Given the description of an element on the screen output the (x, y) to click on. 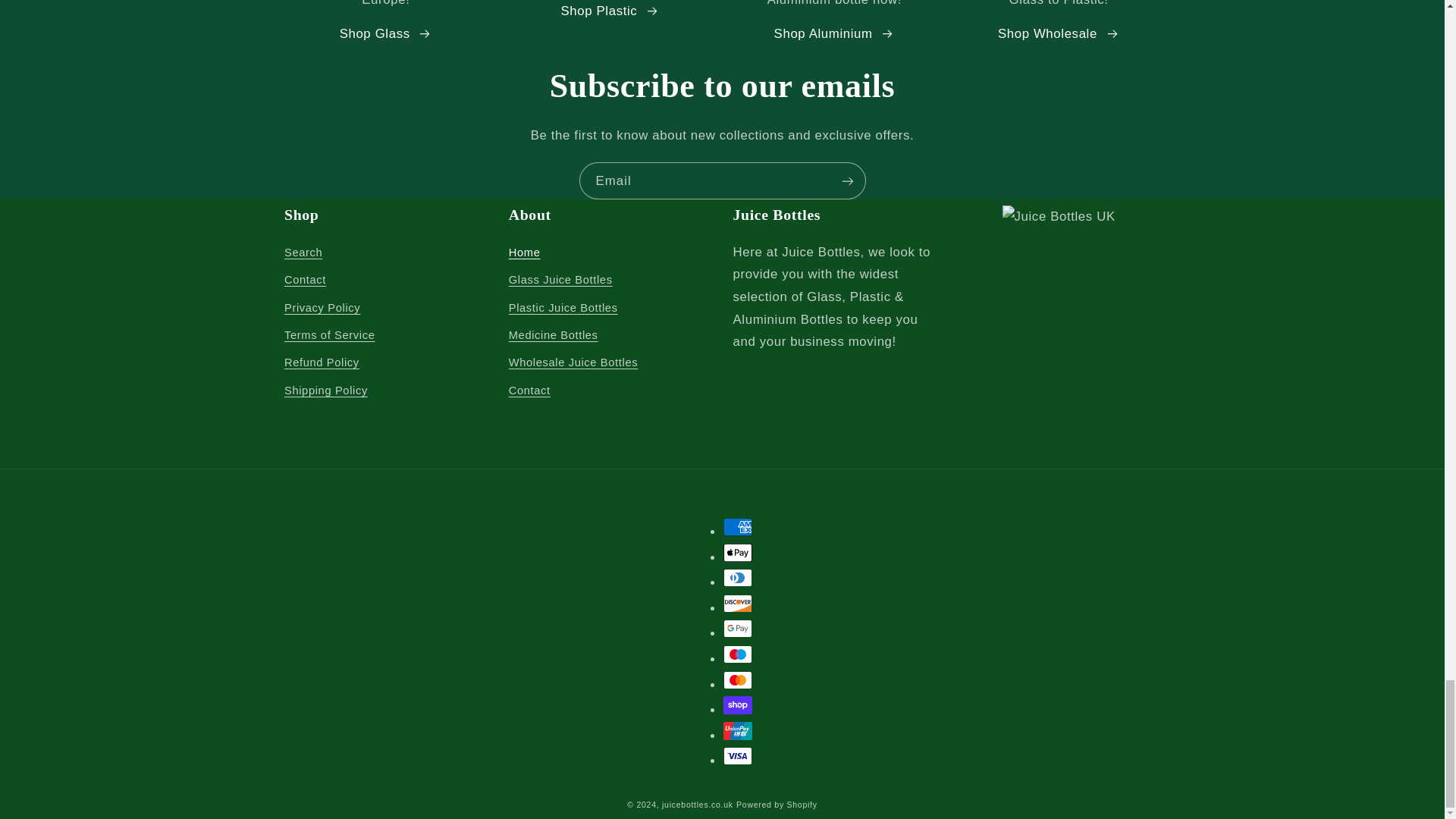
Discover (737, 603)
American Express (737, 526)
Maestro (737, 654)
Apple Pay (737, 552)
Mastercard (737, 679)
Shop Pay (737, 705)
Google Pay (737, 628)
Diners Club (737, 577)
